Given the description of an element on the screen output the (x, y) to click on. 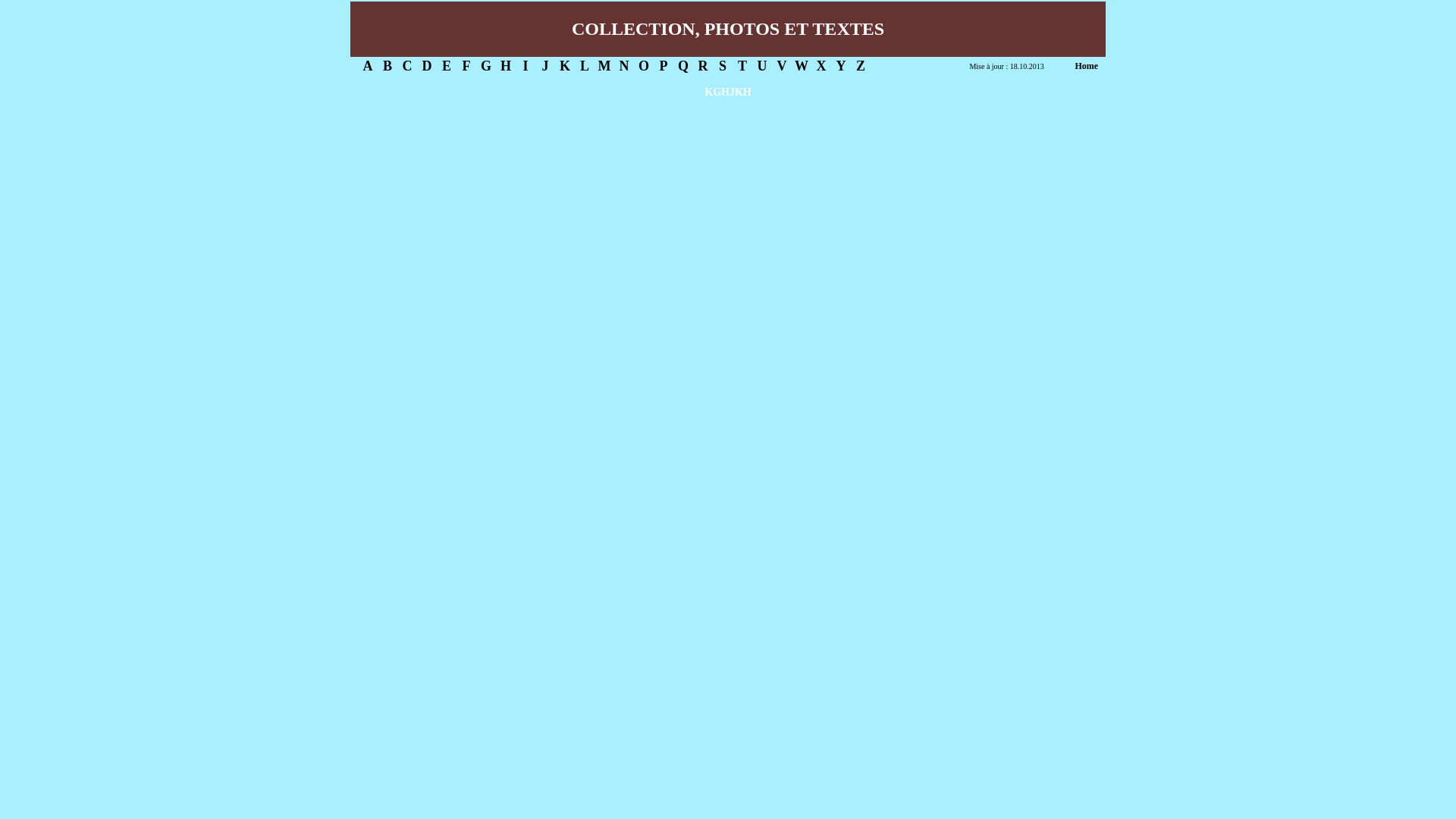
F Element type: text (465, 65)
T Element type: text (741, 65)
C Element type: text (406, 65)
S Element type: text (722, 65)
B Element type: text (387, 65)
L Element type: text (584, 65)
P Element type: text (662, 65)
O Element type: text (643, 65)
R Element type: text (702, 65)
J Element type: text (544, 65)
M Element type: text (603, 65)
G Element type: text (485, 65)
W Element type: text (801, 65)
A Element type: text (367, 65)
D Element type: text (426, 65)
E Element type: text (446, 65)
Home Element type: text (1086, 65)
U Element type: text (761, 65)
H Element type: text (505, 65)
V Element type: text (781, 65)
I Element type: text (524, 65)
Y Element type: text (840, 65)
